Given the description of an element on the screen output the (x, y) to click on. 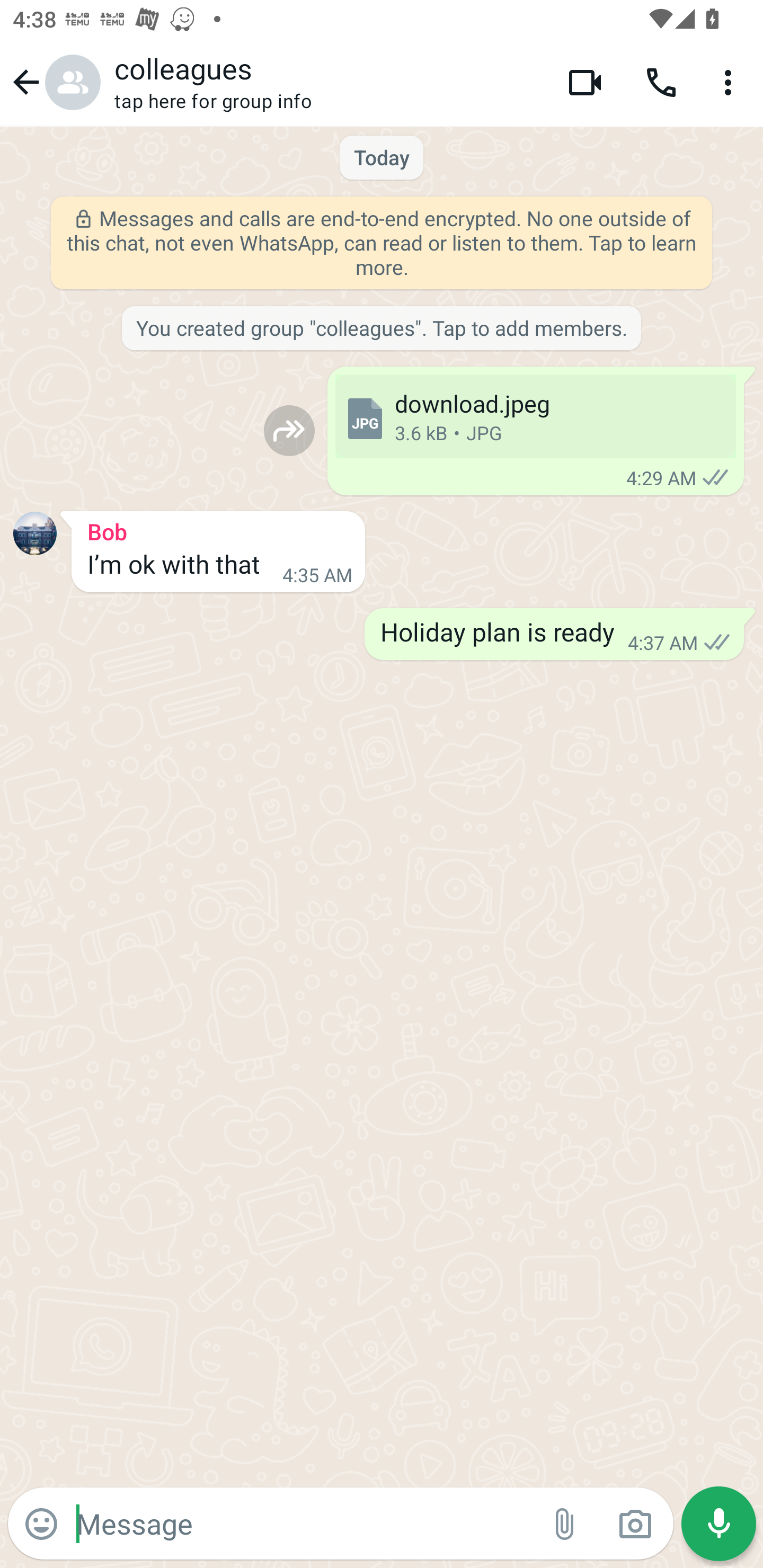
colleagues tap here for group info (327, 82)
Navigate up (54, 82)
Video call (585, 81)
Voice call (661, 81)
More options (731, 81)
download.jpeg 3.6 kB • JPG (535, 415)
Forward to… (288, 430)
Profile picture for Bob (34, 533)
Bob (217, 529)
Emoji (41, 1523)
Attach (565, 1523)
Camera (634, 1523)
Message (303, 1523)
